Given the description of an element on the screen output the (x, y) to click on. 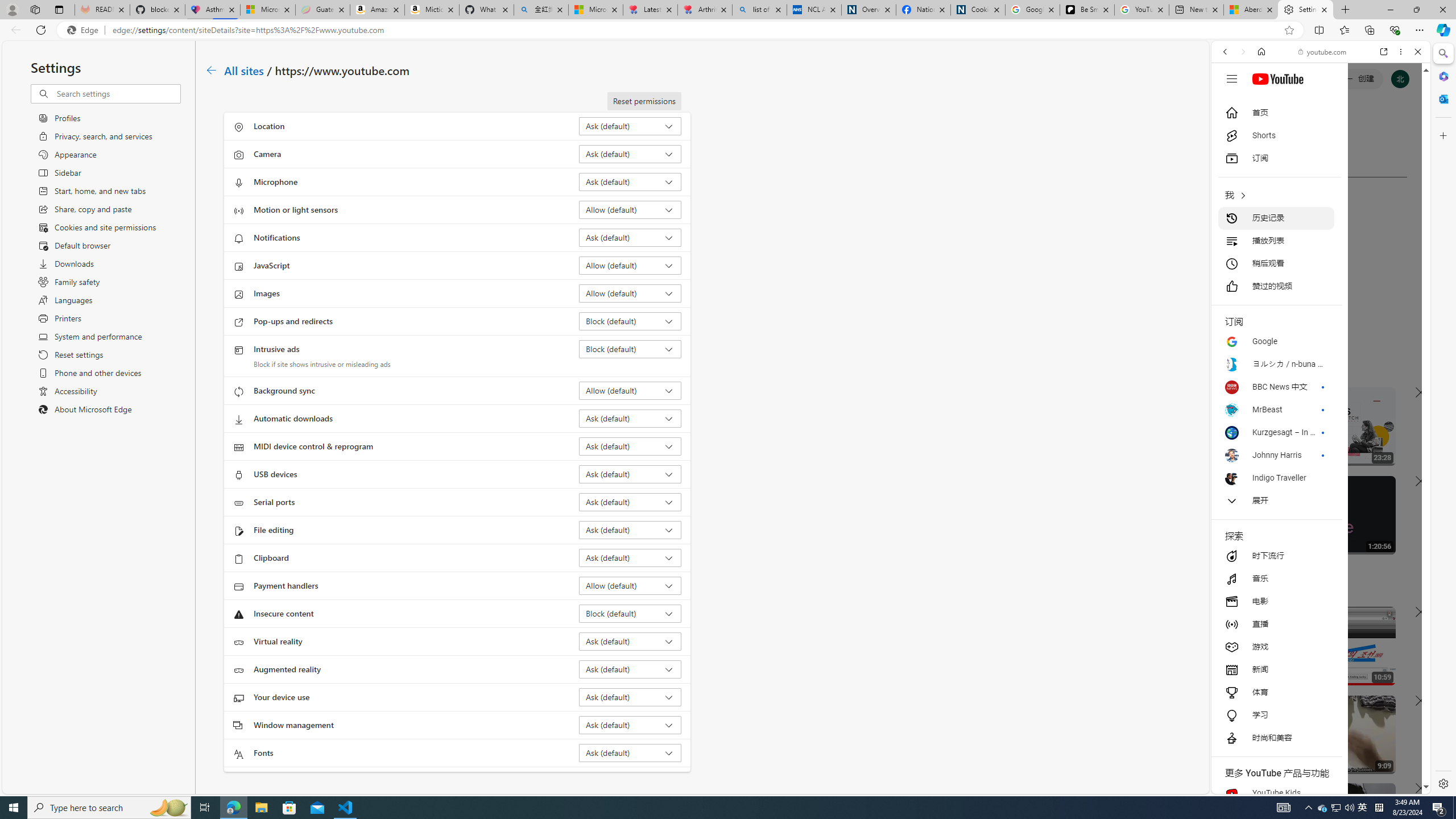
Virtual reality Ask (default) (630, 641)
you (1315, 755)
YouTube Kids (1275, 793)
Go back to All sites page. (210, 70)
Microphone Ask (default) (630, 181)
YouTube (1315, 655)
